Given the description of an element on the screen output the (x, y) to click on. 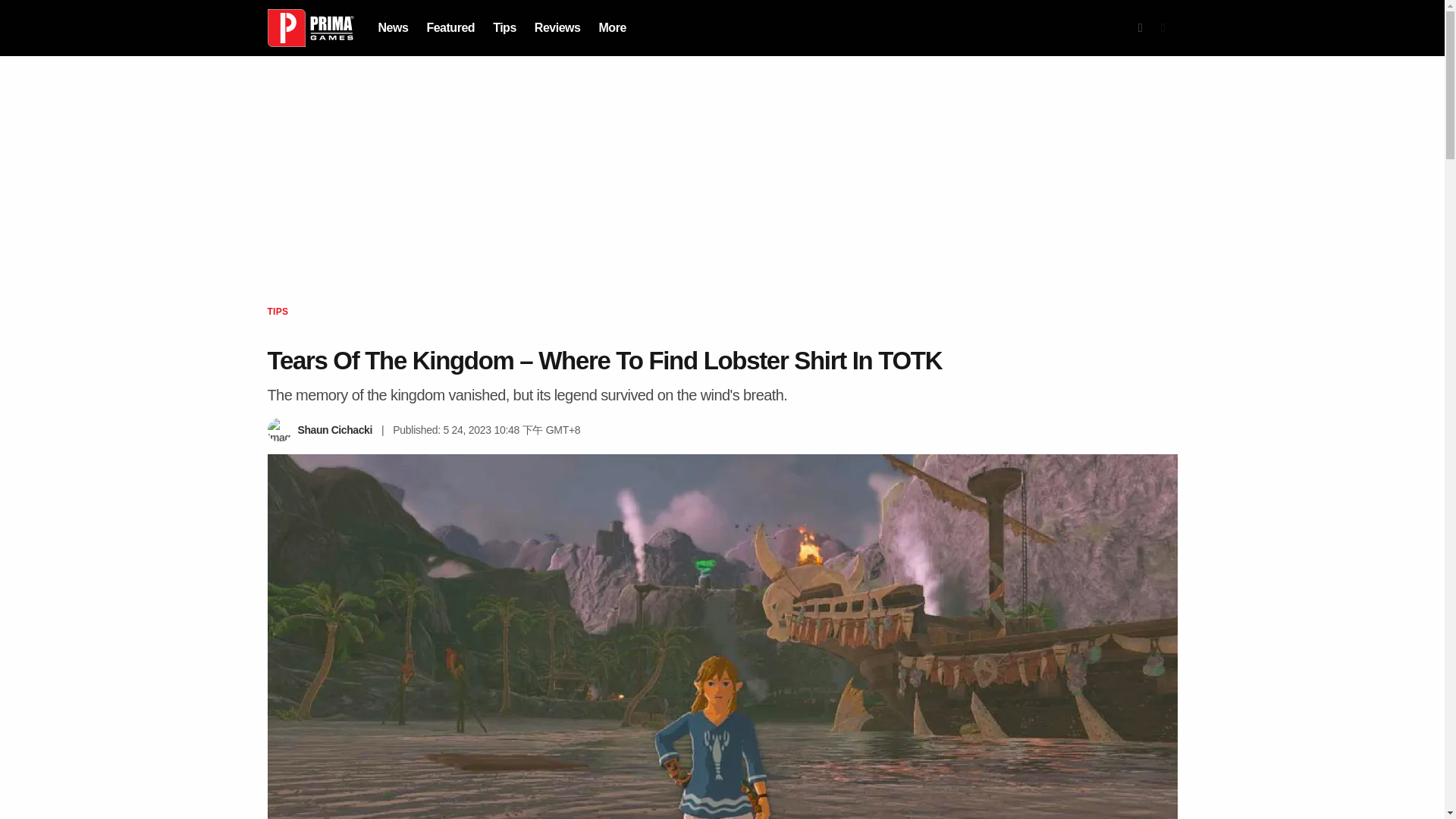
Tips (504, 27)
News (392, 27)
Dark Mode (1163, 27)
Featured (450, 27)
Search (1140, 27)
Reviews (557, 27)
